Given the description of an element on the screen output the (x, y) to click on. 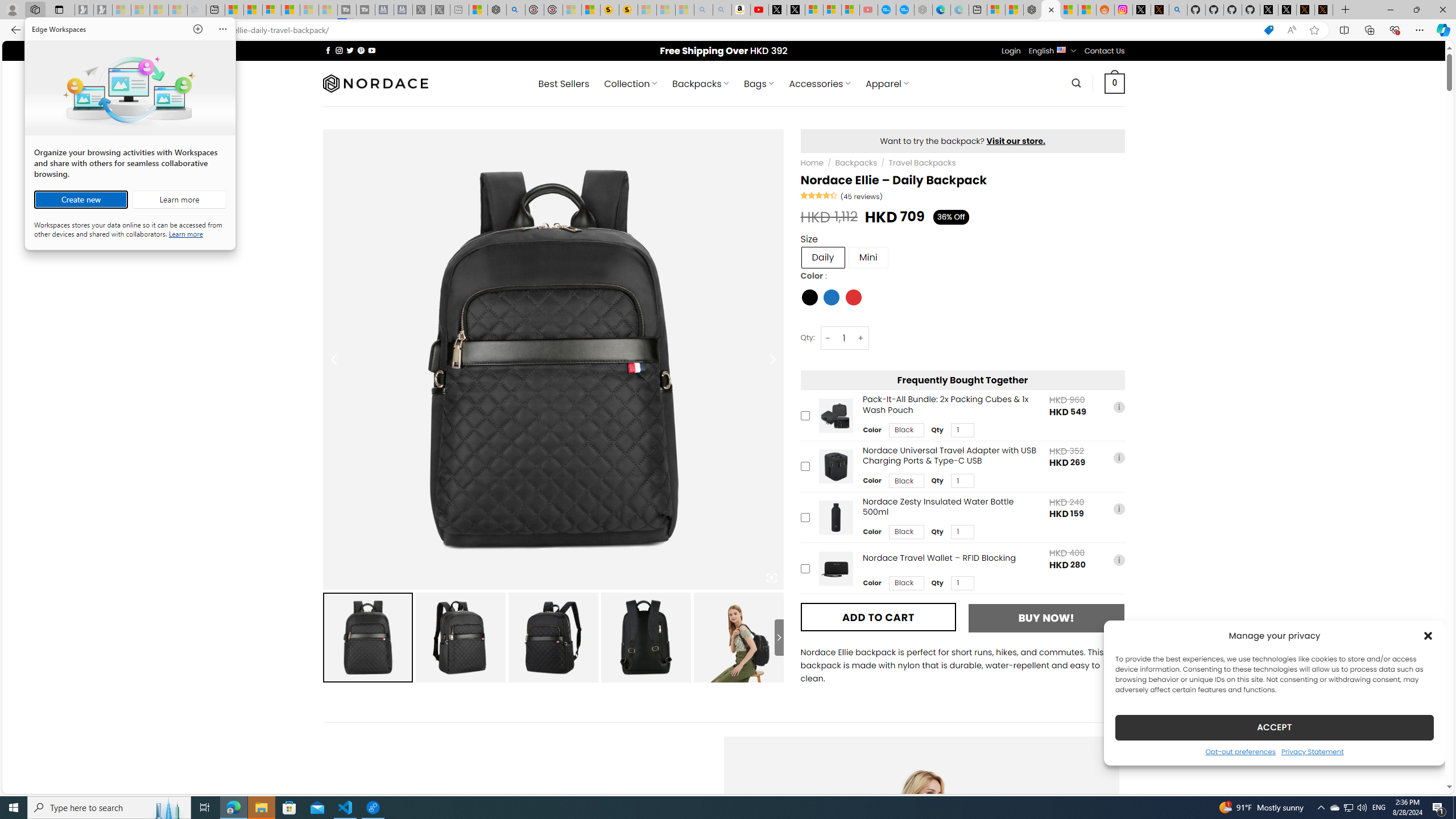
Class: upsell-v2-product-upsell-variable-product-qty-select (962, 582)
Add this product to cart (804, 568)
Tray Input Indicator - English (United States) (1378, 807)
Login (1010, 50)
Edge Feedback - 1 running window (373, 807)
Travel Backpacks (922, 162)
